Given the description of an element on the screen output the (x, y) to click on. 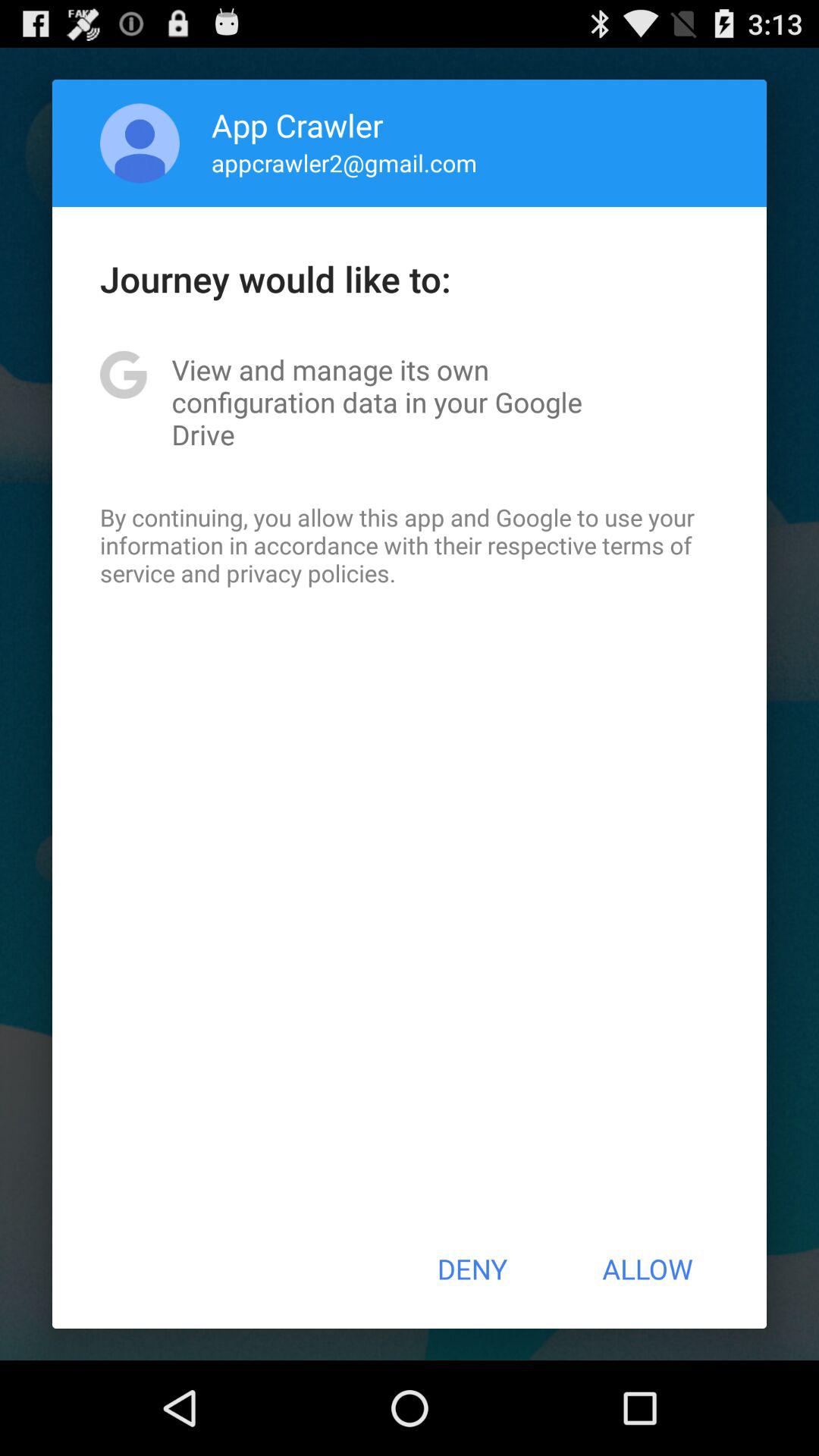
open app above by continuing you icon (409, 401)
